Given the description of an element on the screen output the (x, y) to click on. 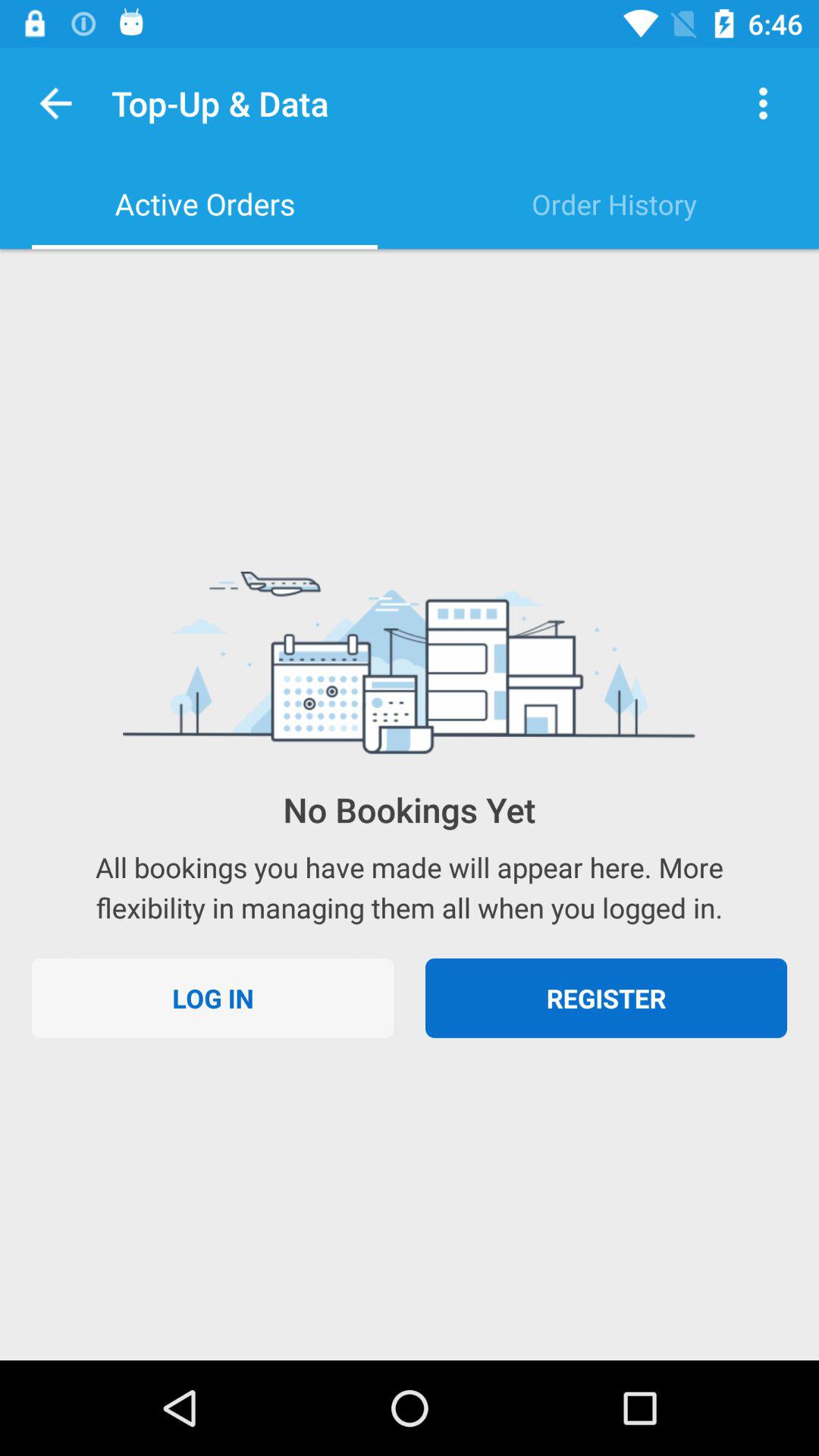
turn on the icon next to top-up & data icon (763, 103)
